Given the description of an element on the screen output the (x, y) to click on. 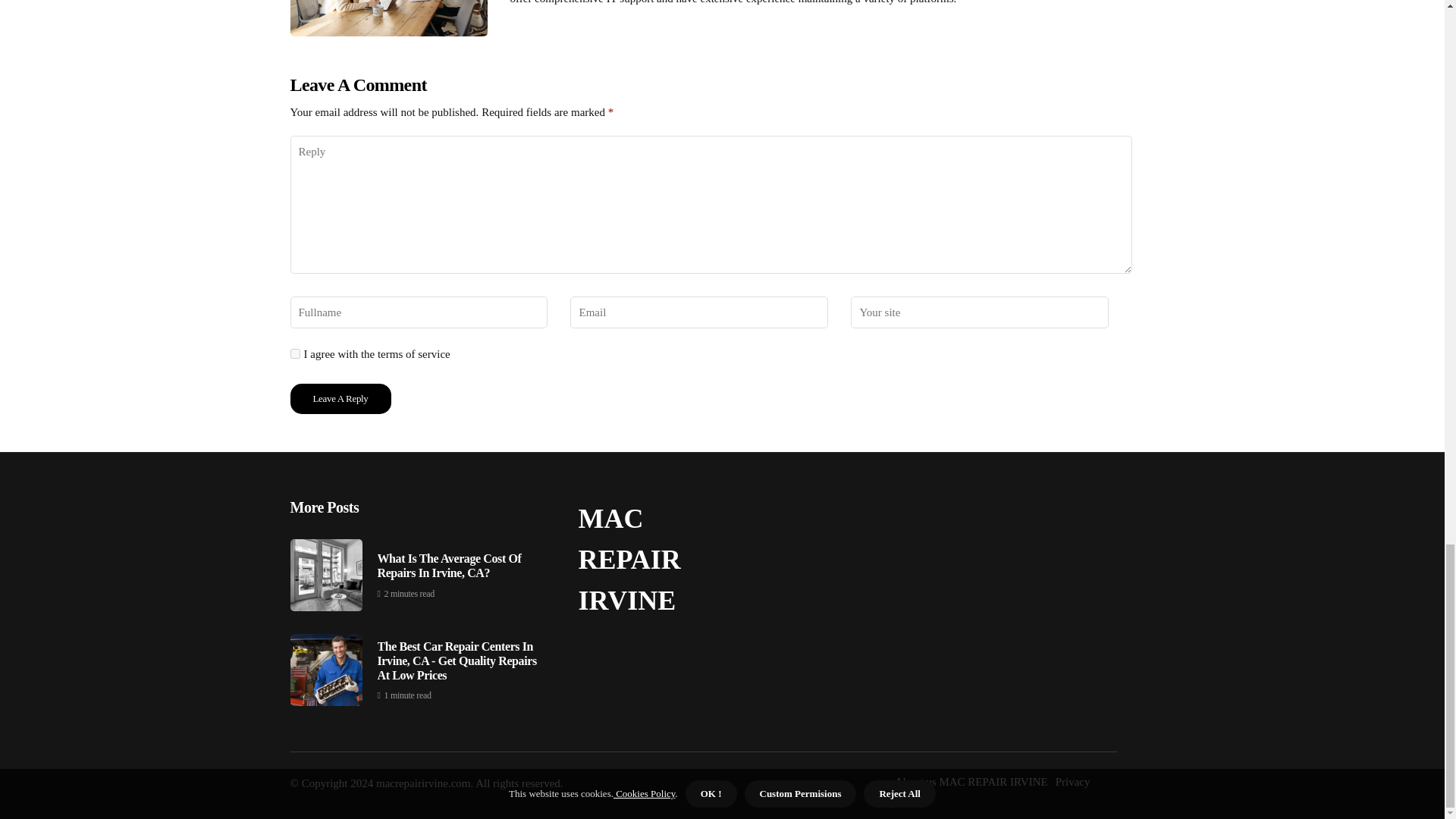
Leave a Reply (339, 399)
yes (294, 353)
Leave a Reply (339, 399)
